Given the description of an element on the screen output the (x, y) to click on. 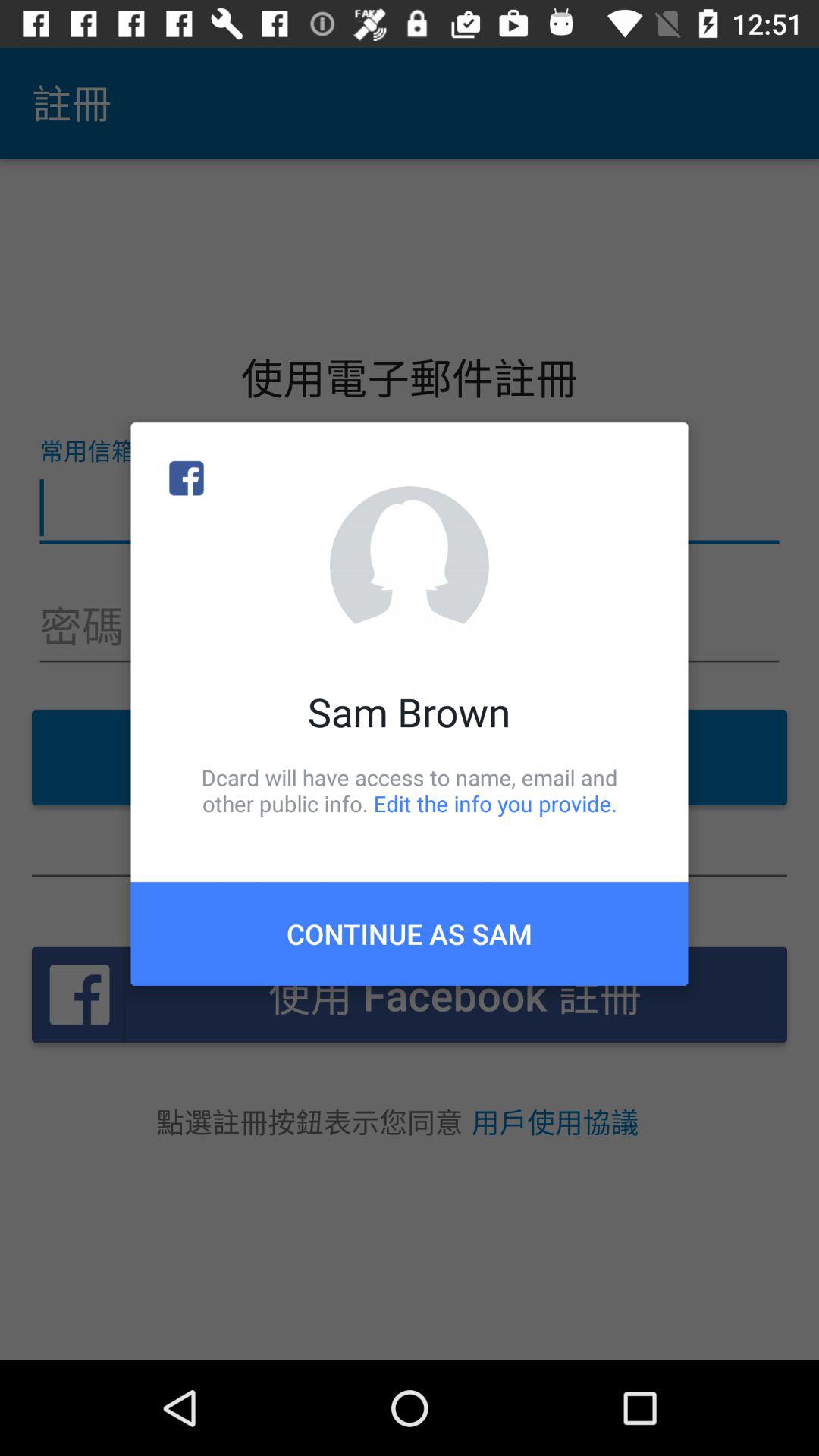
choose icon below sam brown (409, 790)
